Given the description of an element on the screen output the (x, y) to click on. 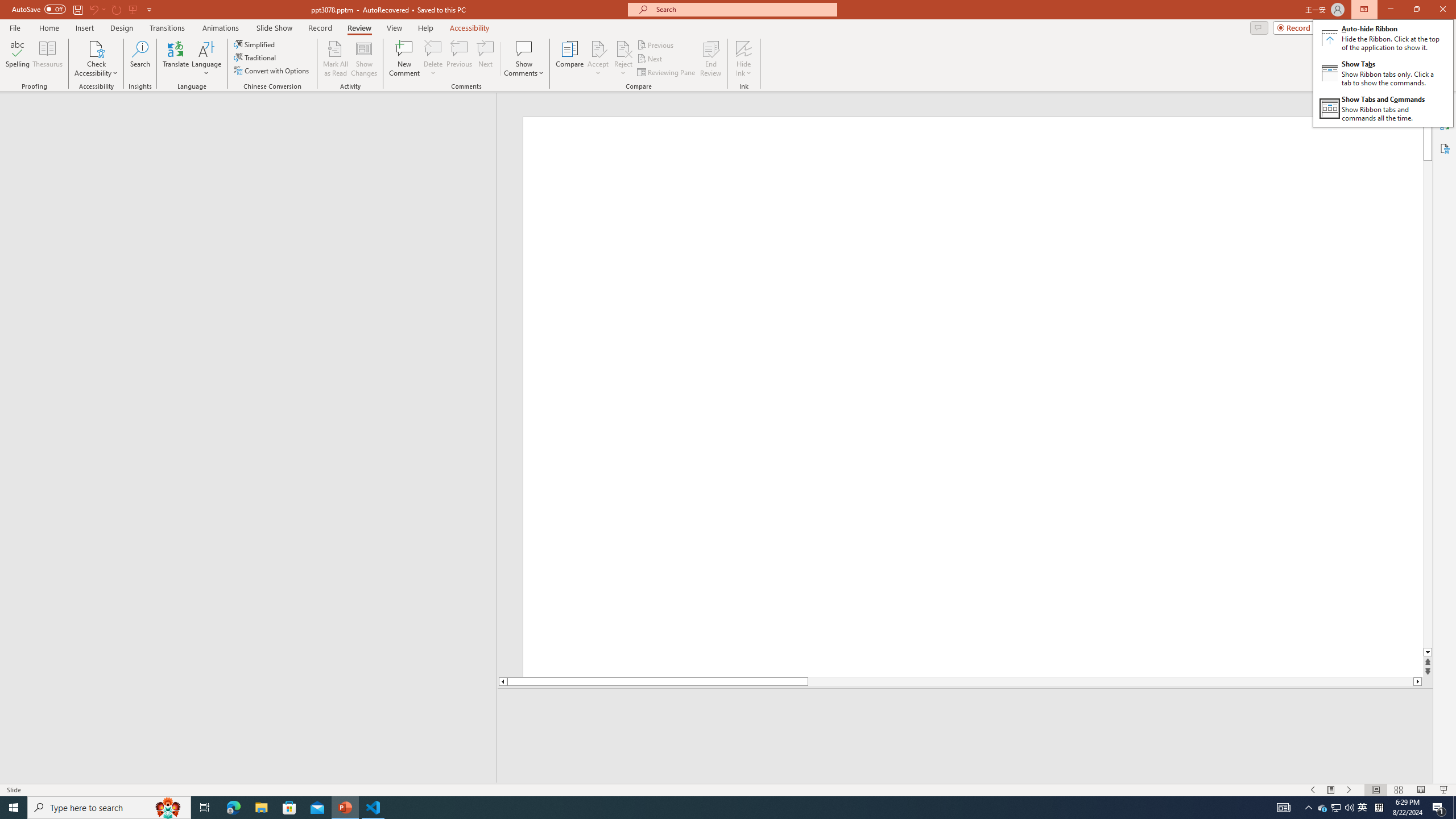
Compare (569, 58)
Menu On (1331, 790)
End Review (710, 58)
